Given the description of an element on the screen output the (x, y) to click on. 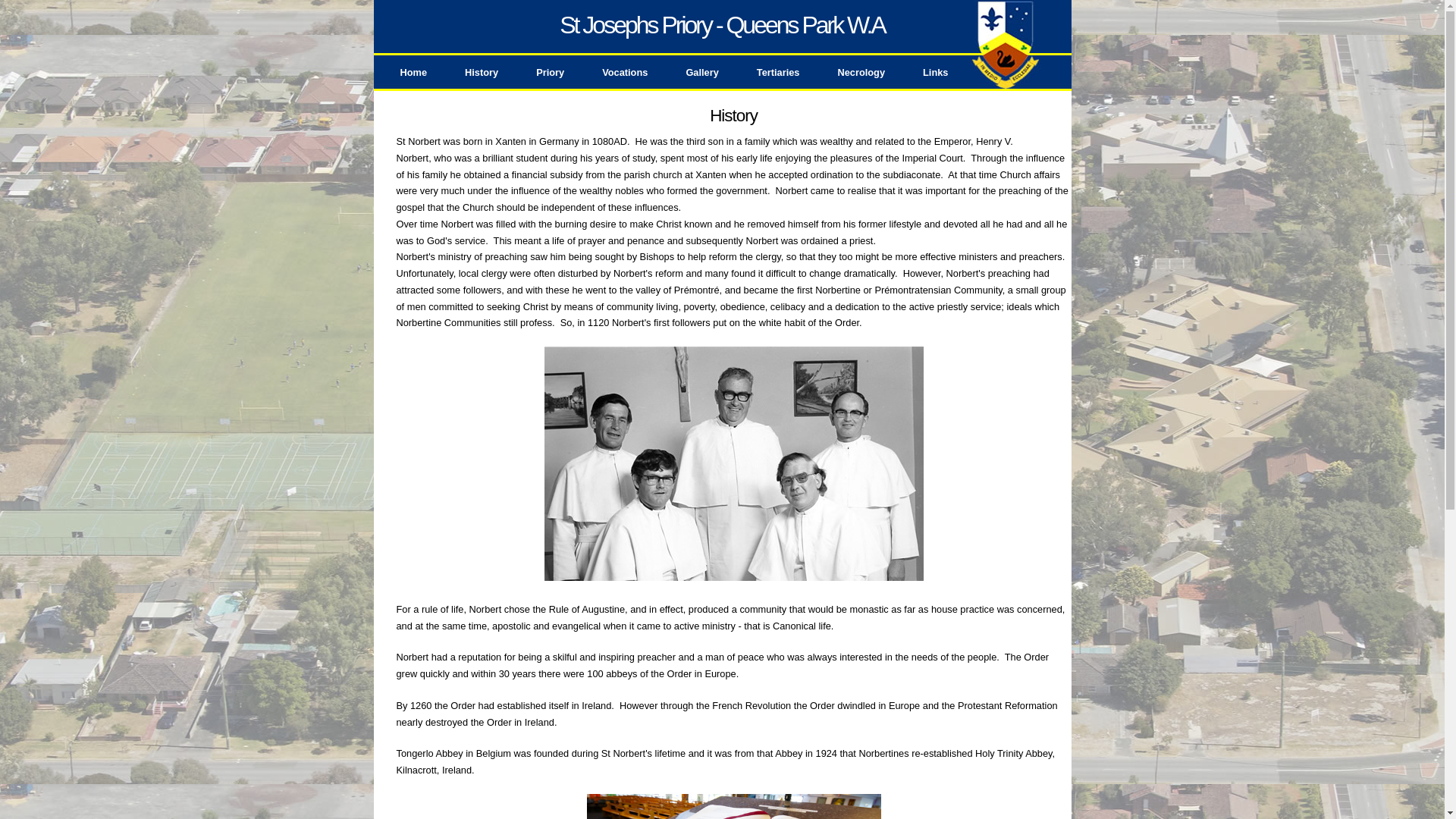
Priory Element type: text (549, 71)
Necrology Element type: text (860, 71)
Vocations Element type: text (624, 71)
History Element type: text (481, 71)
Links Element type: text (935, 71)
Home Element type: text (413, 71)
Gallery Element type: text (701, 71)
Tertiaries Element type: text (778, 71)
